Given the description of an element on the screen output the (x, y) to click on. 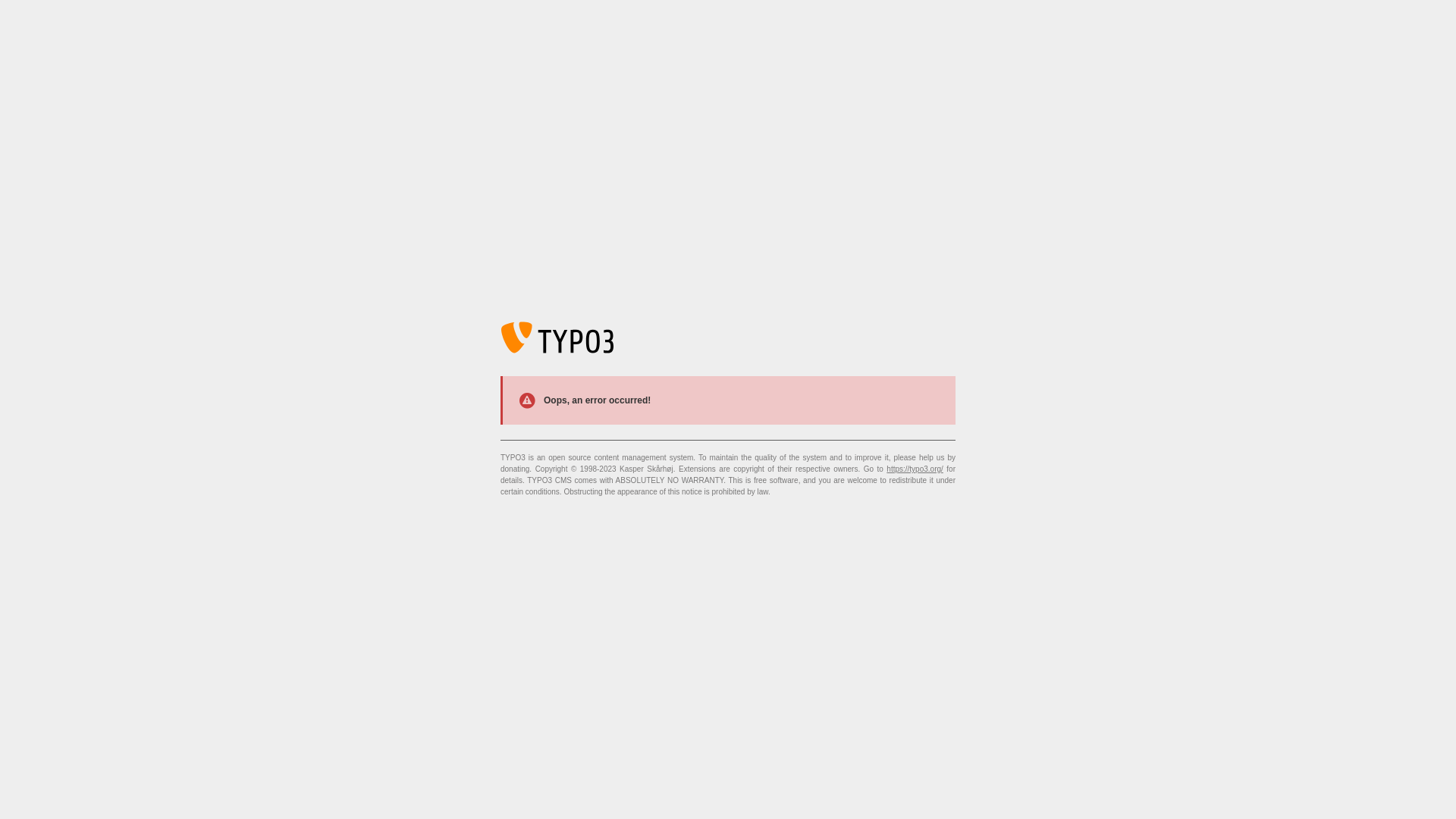
https://typo3.org/ Element type: text (914, 468)
